Given the description of an element on the screen output the (x, y) to click on. 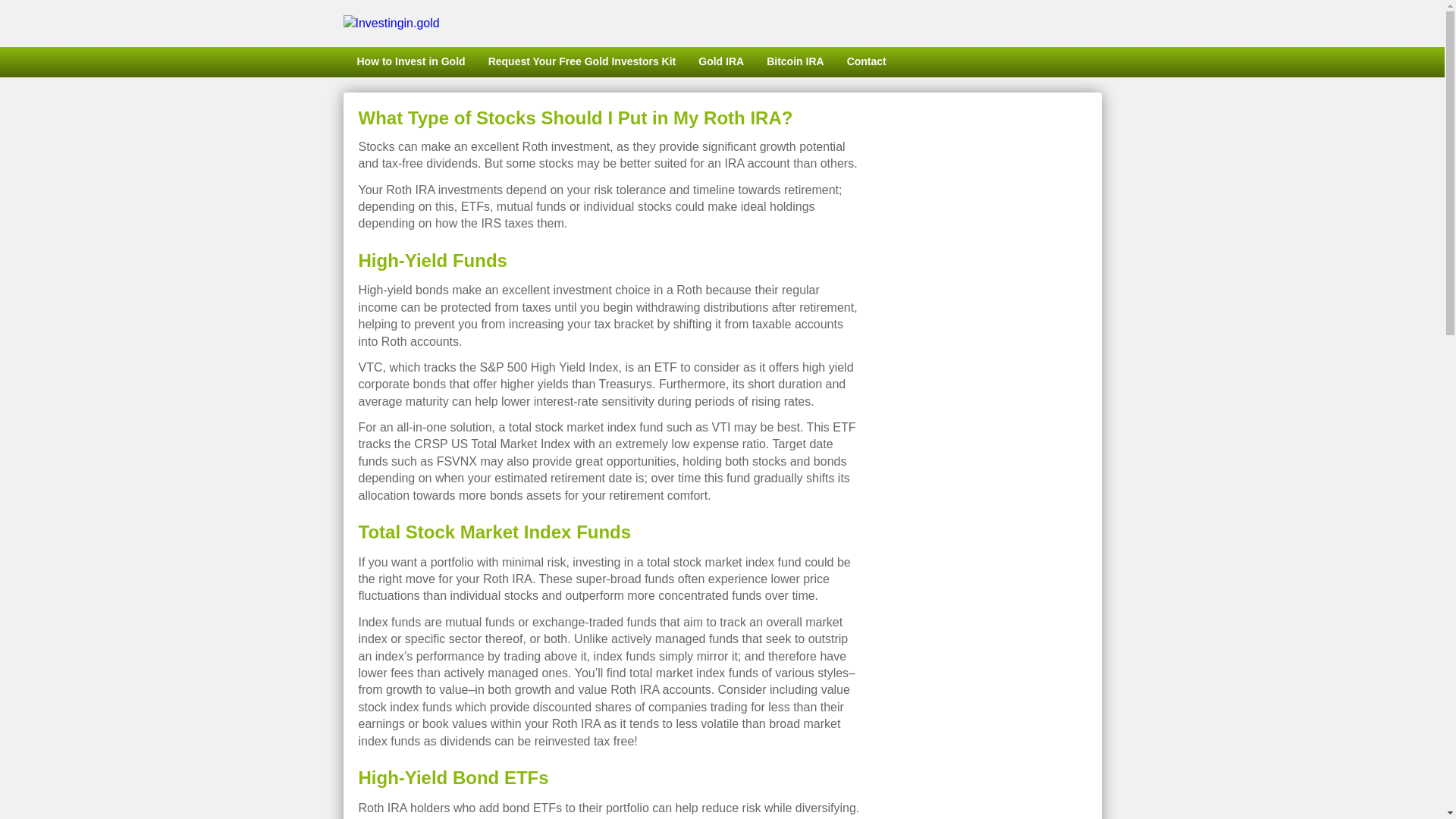
How to Invest in Gold (409, 61)
Request Your Free Gold Investors Kit (582, 61)
Contact (866, 61)
Bitcoin IRA (794, 61)
Gold IRA (721, 61)
